Given the description of an element on the screen output the (x, y) to click on. 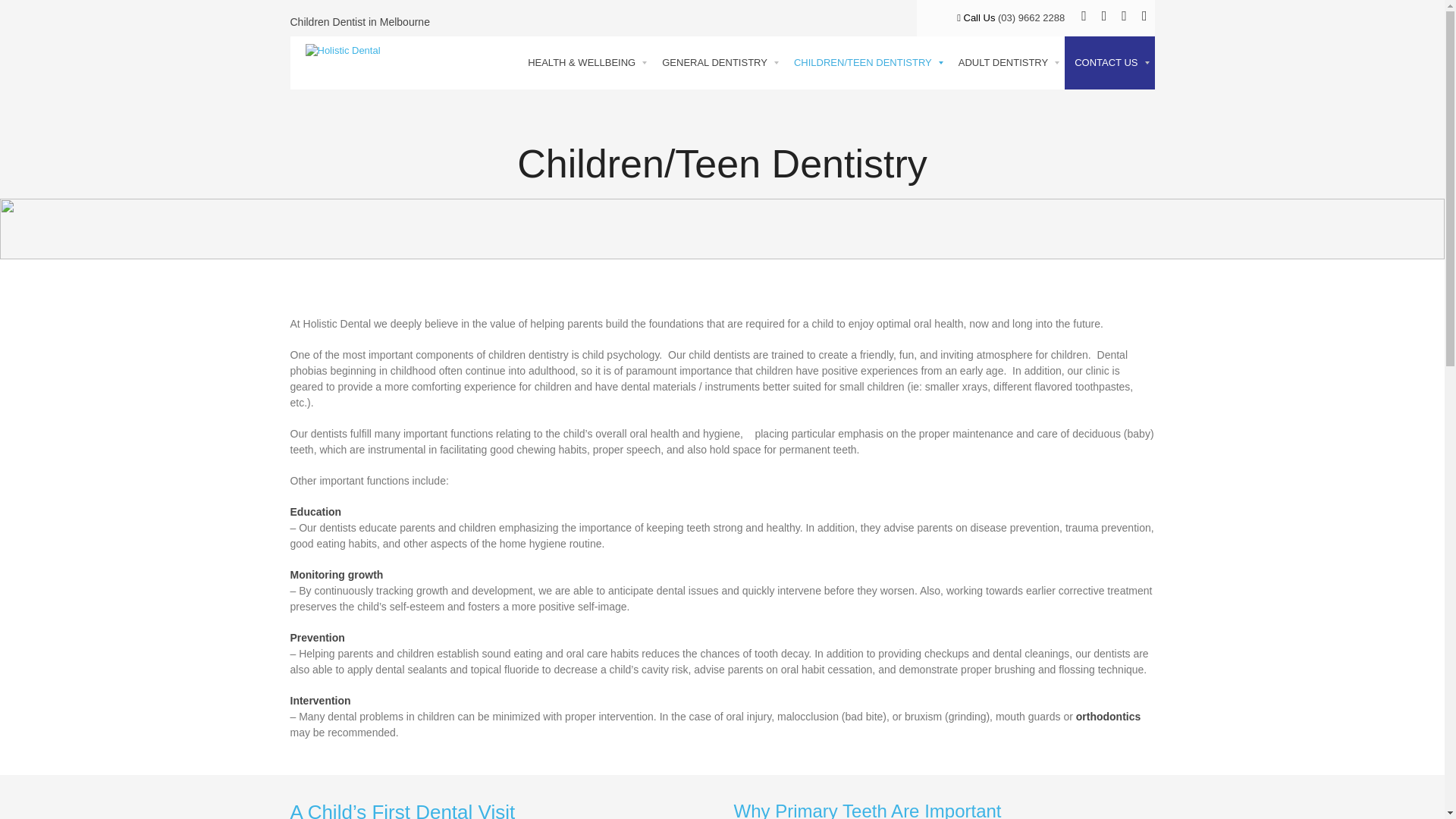
(03) 9662 2288 Element type: text (1035, 17)
GENERAL DENTISTRY Element type: text (718, 62)
ADULT DENTISTRY Element type: text (1006, 62)
CHILDREN/TEEN DENTISTRY Element type: text (866, 62)
HEALTH & WELLBEING Element type: text (584, 62)
CONTACT US Element type: text (1109, 62)
Holistic Dental Element type: hover (334, 50)
